Given the description of an element on the screen output the (x, y) to click on. 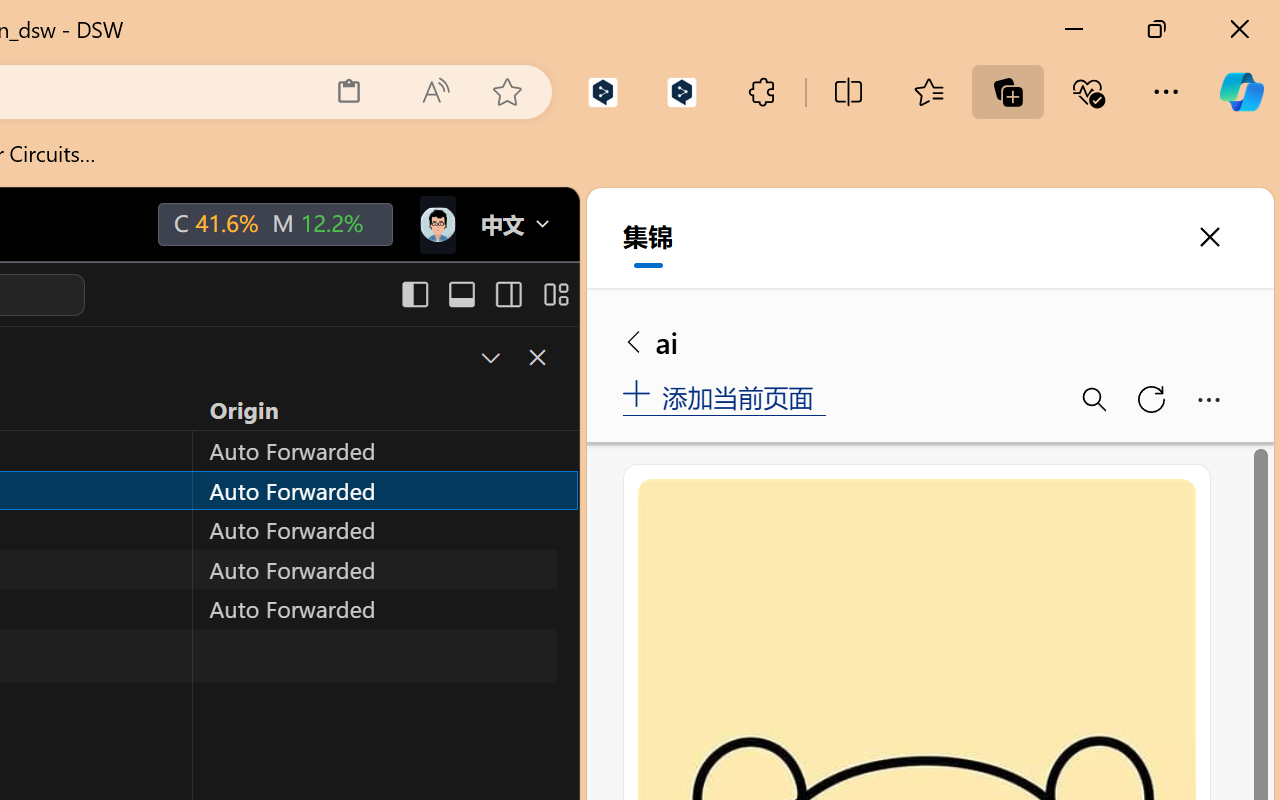
Toggle Secondary Side Bar (Ctrl+Alt+B) (506, 294)
Toggle Primary Side Bar (Ctrl+B) (413, 294)
Copilot (Ctrl+Shift+.) (1241, 91)
Class: actions-container (516, 358)
Close Panel (535, 357)
icon (436, 224)
Class: next-menu next-hoz widgets--iconMenu--BFkiHRM (436, 225)
